Given the description of an element on the screen output the (x, y) to click on. 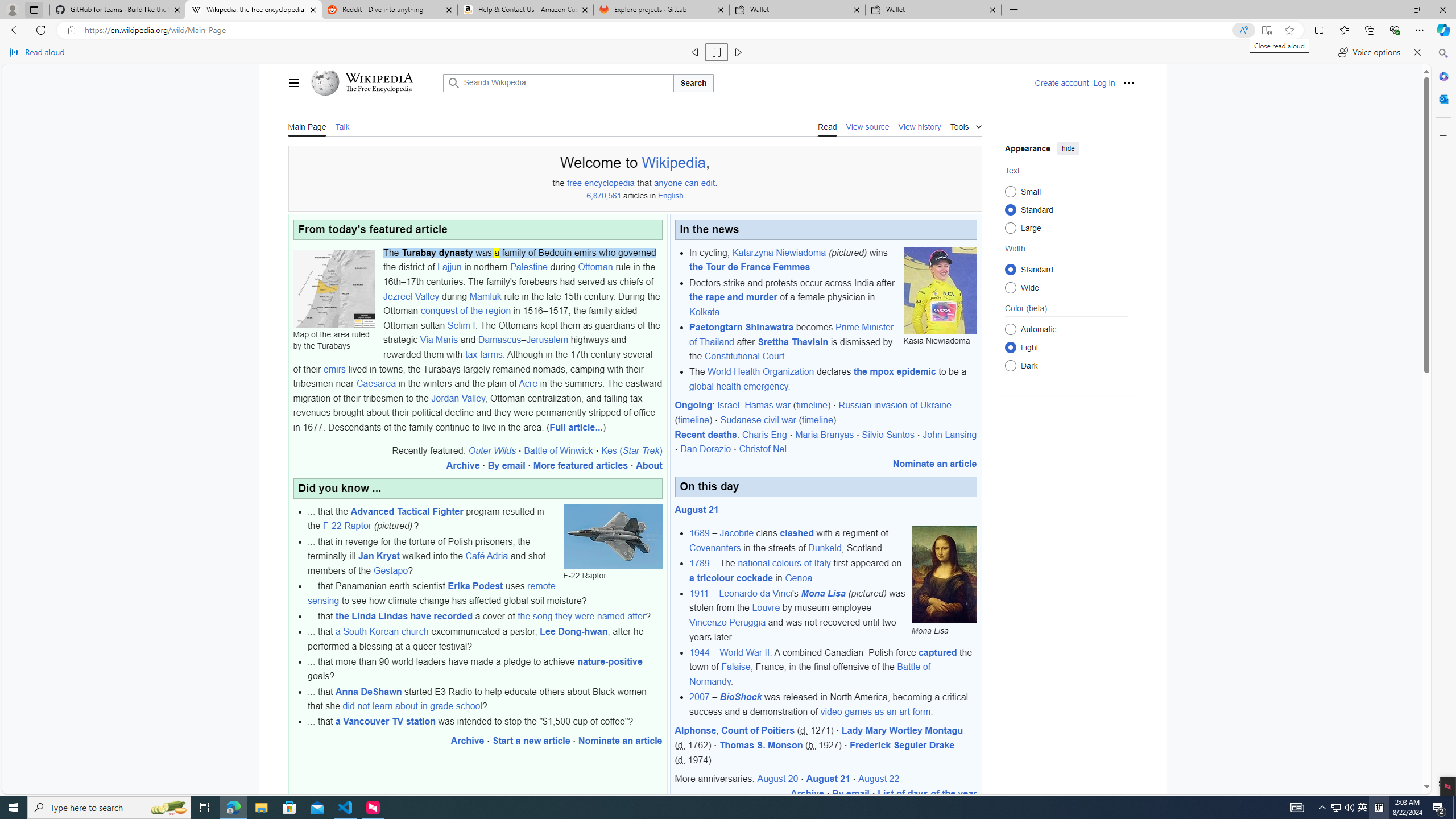
Lee Dong-hwan (574, 631)
Read previous paragraph (693, 52)
Main Page (307, 125)
Leonardo da Vinci (755, 593)
(timeline) (817, 420)
Palestine (528, 267)
global health emergency (737, 385)
Talk (341, 125)
Jerusalem (547, 339)
By email (850, 792)
